Given the description of an element on the screen output the (x, y) to click on. 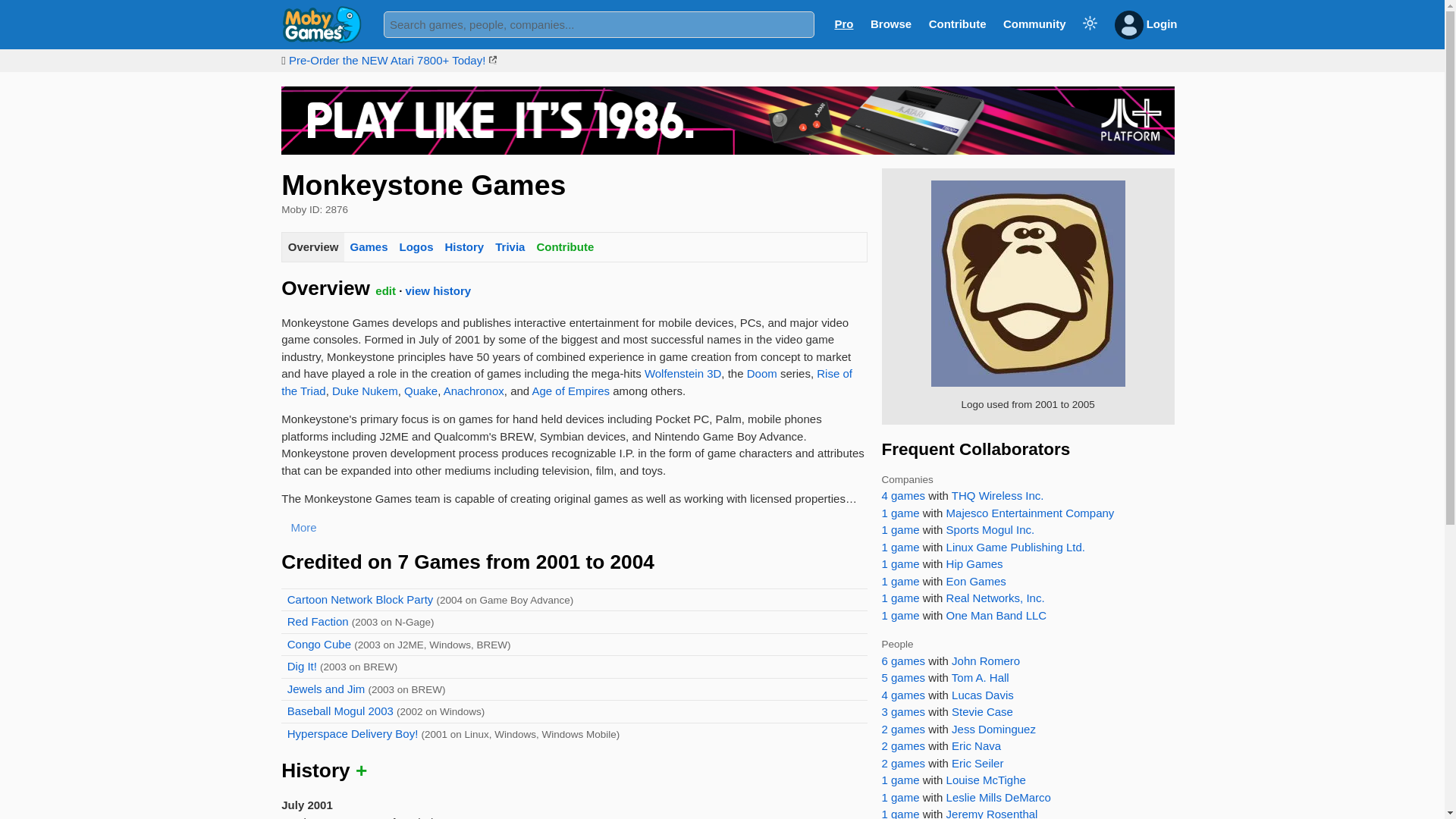
History (464, 247)
Wolfenstein 3D (682, 373)
view history (437, 290)
Doom (761, 373)
Games (368, 247)
Logos (416, 247)
edit (385, 290)
Contribute (565, 247)
Overview (312, 247)
Trivia (510, 247)
